Given the description of an element on the screen output the (x, y) to click on. 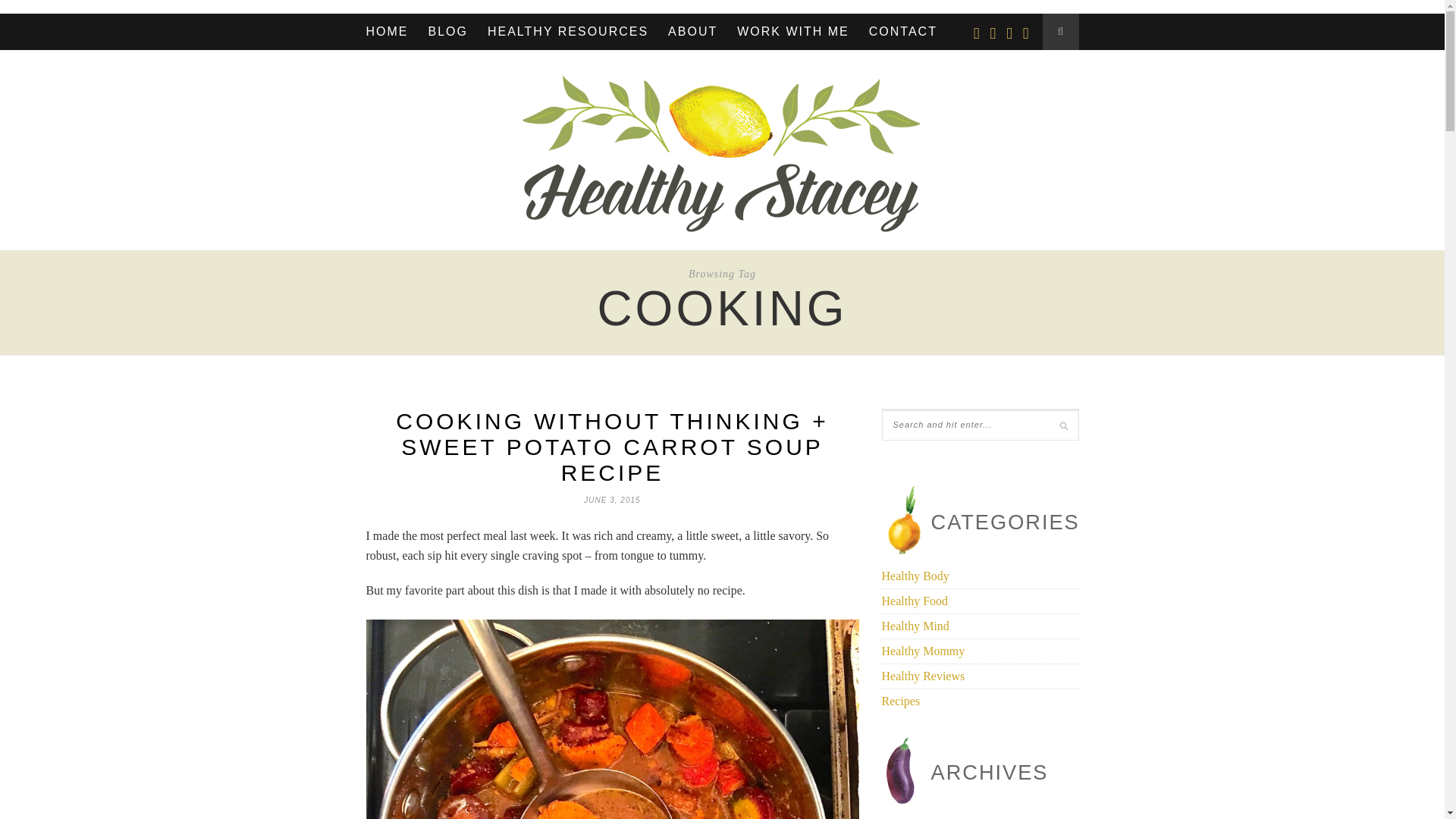
ABOUT (692, 31)
HEALTHY RESOURCES (567, 31)
WORK WITH ME (792, 31)
CONTACT (903, 31)
BLOG (447, 31)
HOME (386, 31)
Healthy Body (914, 575)
